Given the description of an element on the screen output the (x, y) to click on. 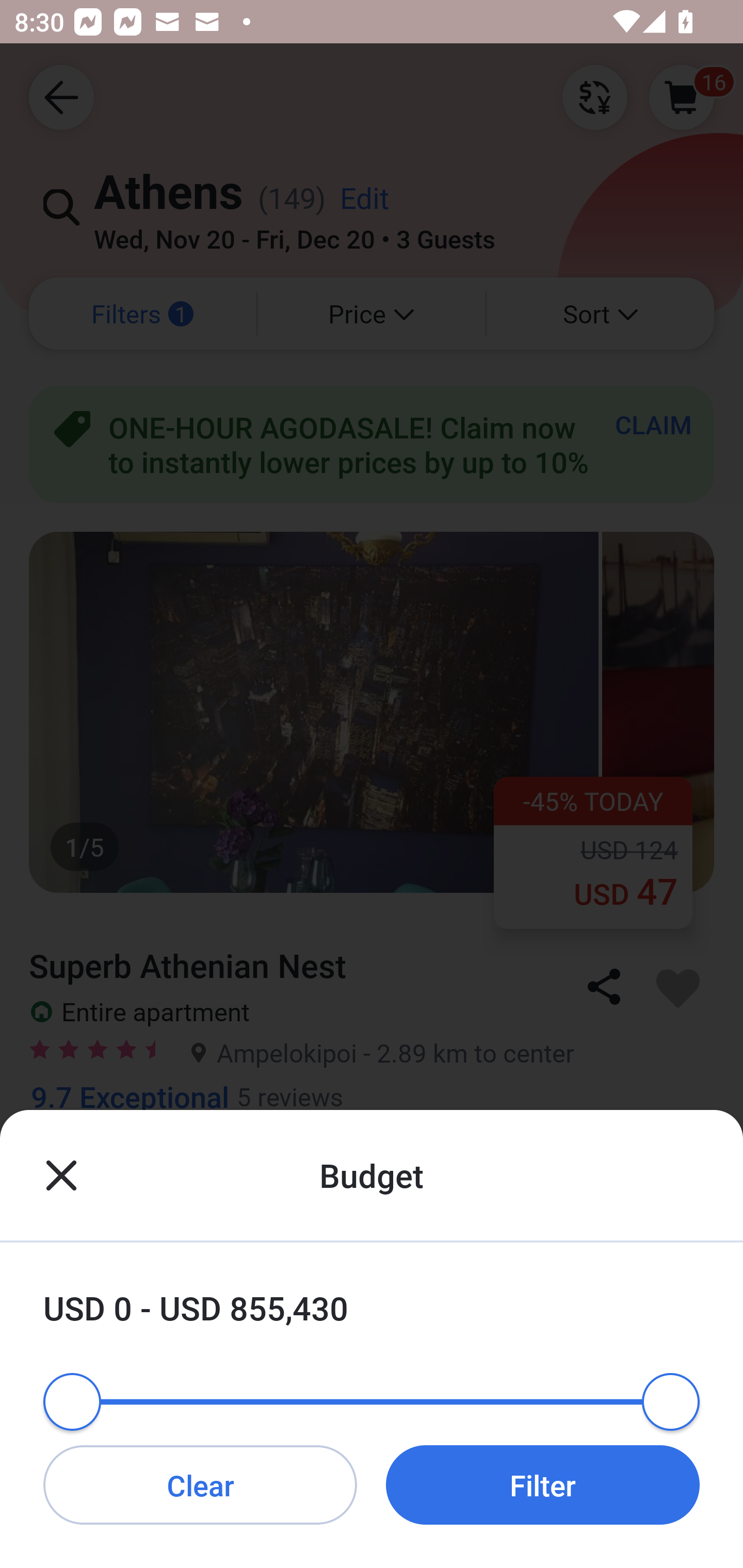
Free cancellation Rare Find (371, 1182)
Clear (200, 1484)
Filter (542, 1484)
